Given the description of an element on the screen output the (x, y) to click on. 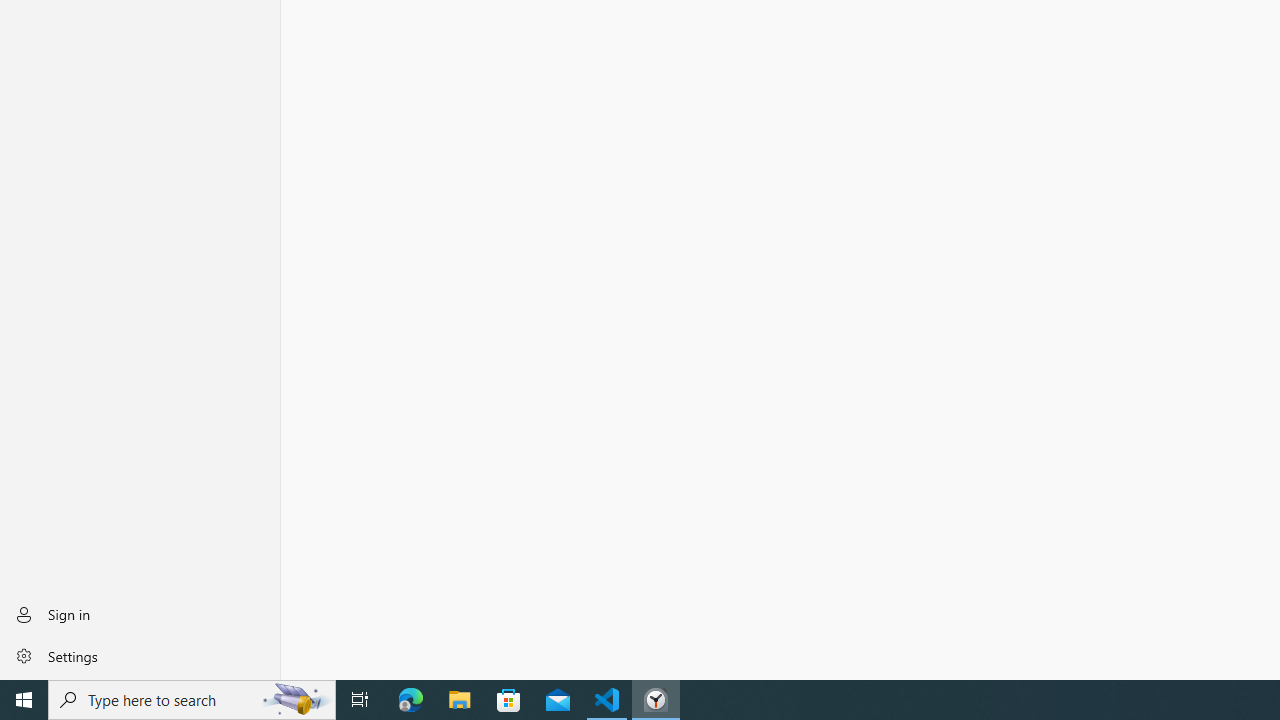
Sign in (139, 614)
Search highlights icon opens search home window (295, 699)
Type here to search (191, 699)
File Explorer (460, 699)
Task View (359, 699)
Settings (139, 655)
Clock - 1 running window (656, 699)
Microsoft Edge (411, 699)
Microsoft Store (509, 699)
Start (24, 699)
Visual Studio Code - 1 running window (607, 699)
